Given the description of an element on the screen output the (x, y) to click on. 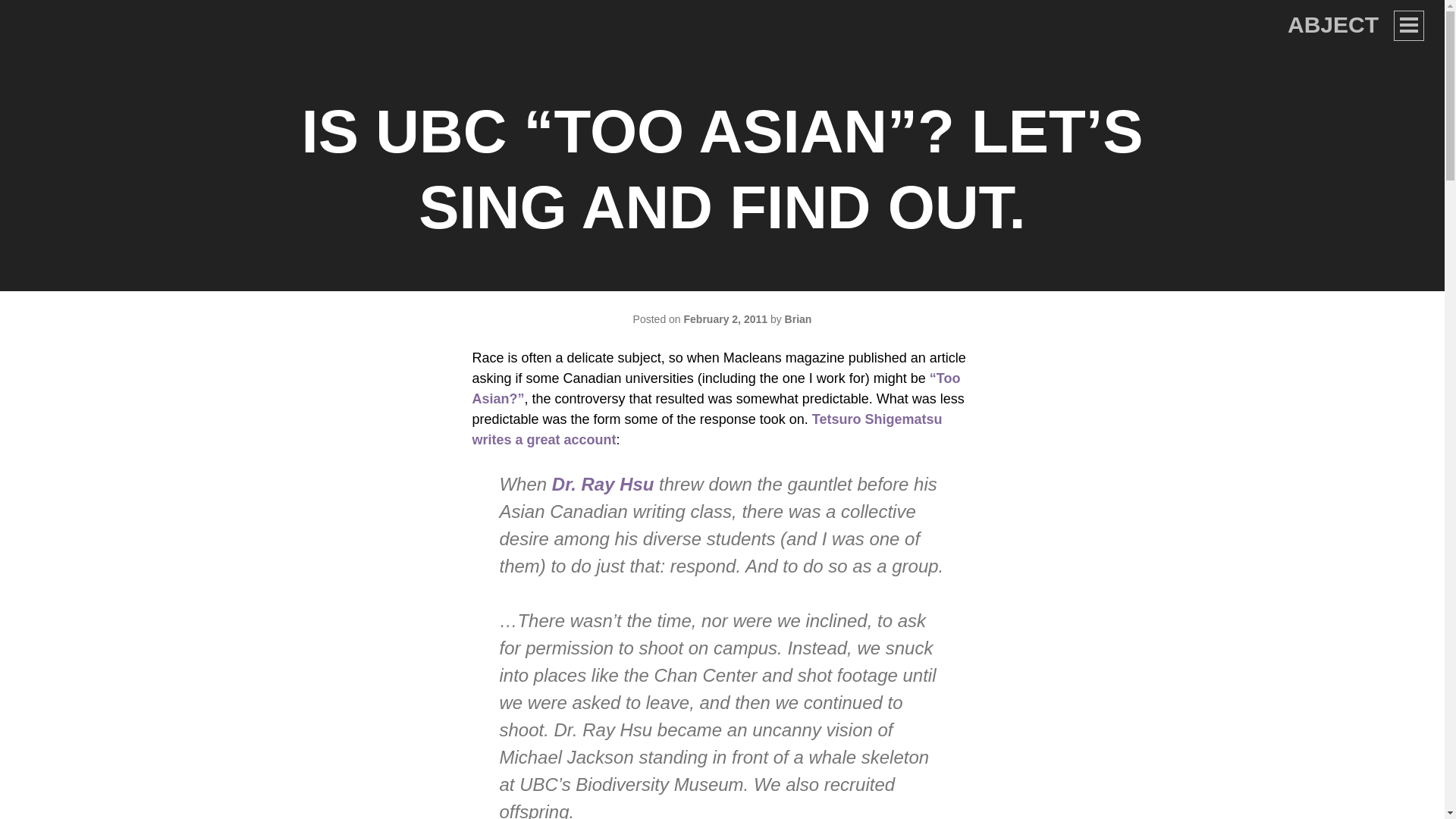
Search (40, 18)
PRIMARY MENU (1408, 25)
ABJECT (1332, 24)
